Given the description of an element on the screen output the (x, y) to click on. 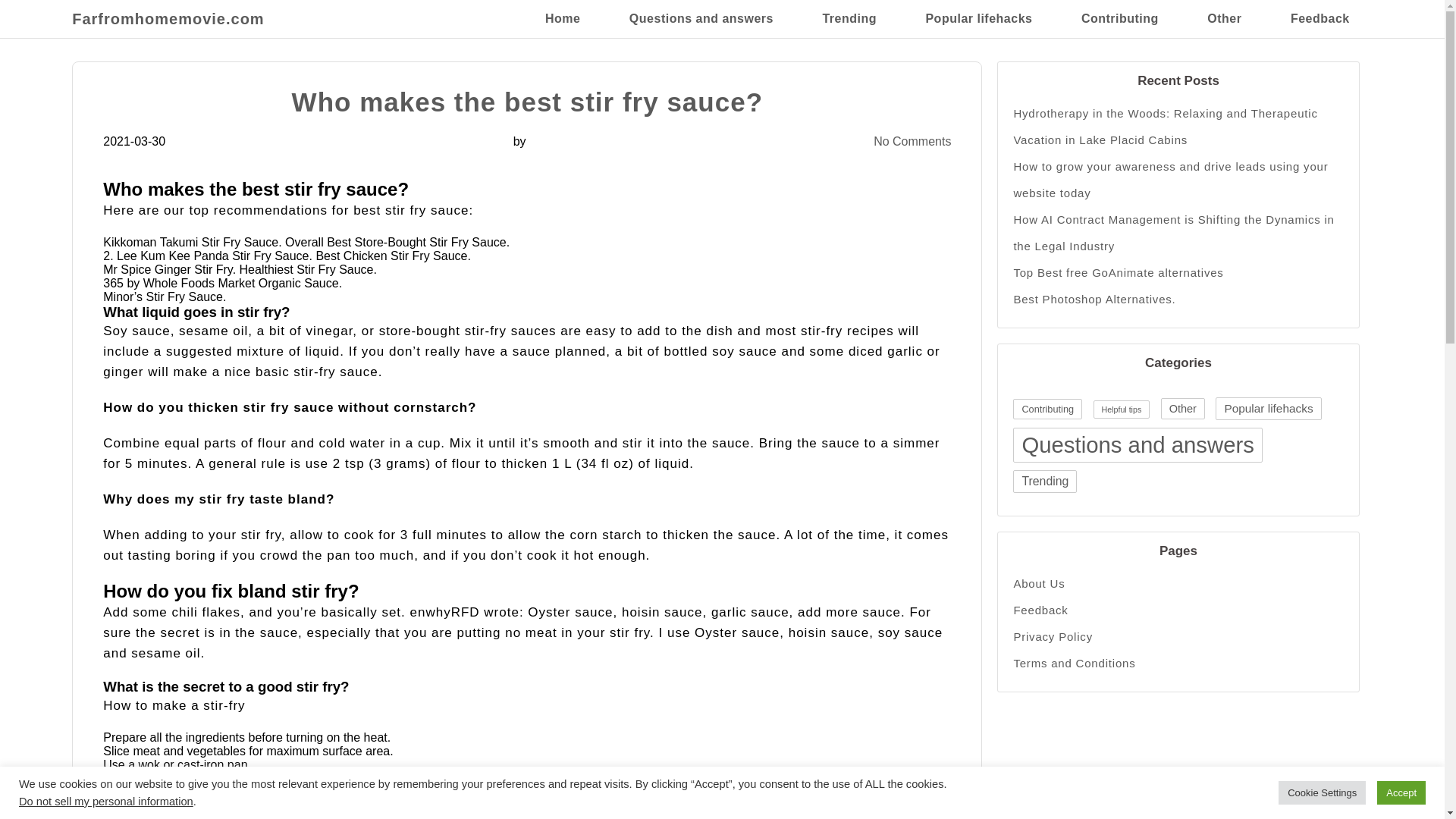
Other (1182, 408)
Feedback (1319, 18)
Terms and Conditions (1177, 663)
Accept (1401, 792)
Contributing (1047, 408)
Other (1224, 18)
Home (561, 18)
Popular lifehacks (978, 18)
Top Best free GoAnimate alternatives (1177, 272)
Helpful tips (1121, 409)
Do not sell my personal information (105, 801)
Feedback (1177, 610)
Popular lifehacks (1267, 408)
